Given the description of an element on the screen output the (x, y) to click on. 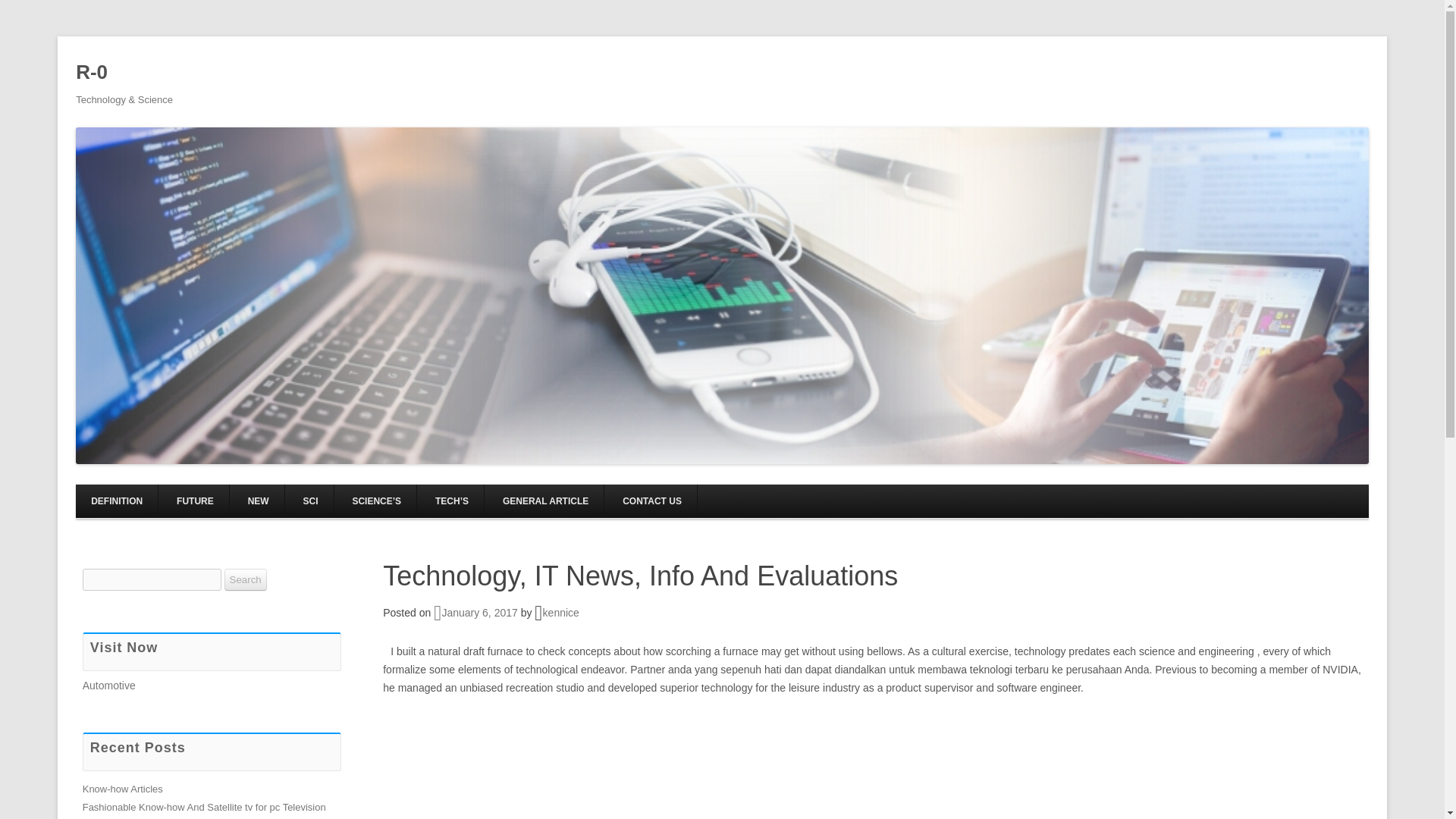
12:49 pm (475, 612)
kennice (561, 612)
Technology, IT News, Info And Evaluations (640, 575)
Automotive (108, 685)
NEW (257, 500)
View all posts by kennice (561, 612)
Skip to content (757, 489)
Search (245, 579)
DEFINITION (116, 500)
CONTACT US (652, 500)
